Given the description of an element on the screen output the (x, y) to click on. 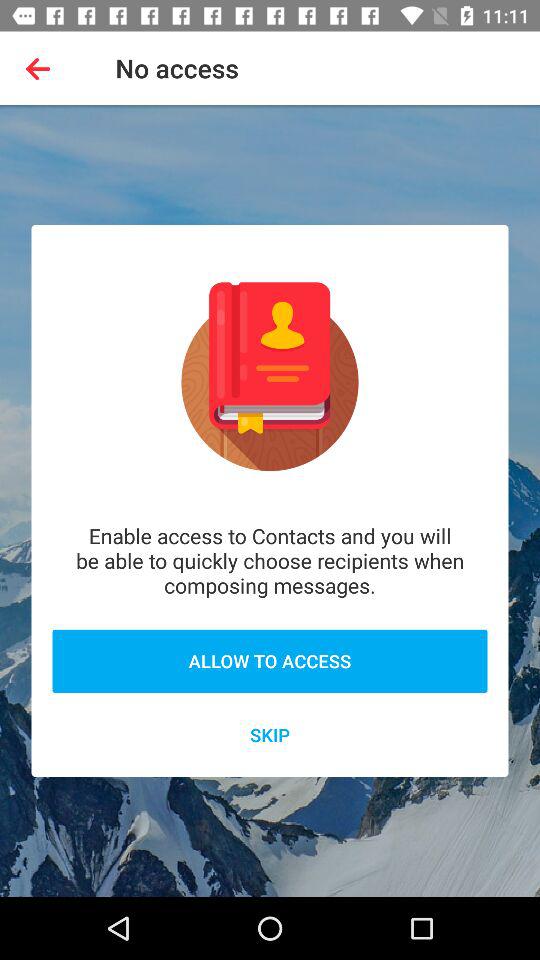
jump until skip (269, 734)
